Given the description of an element on the screen output the (x, y) to click on. 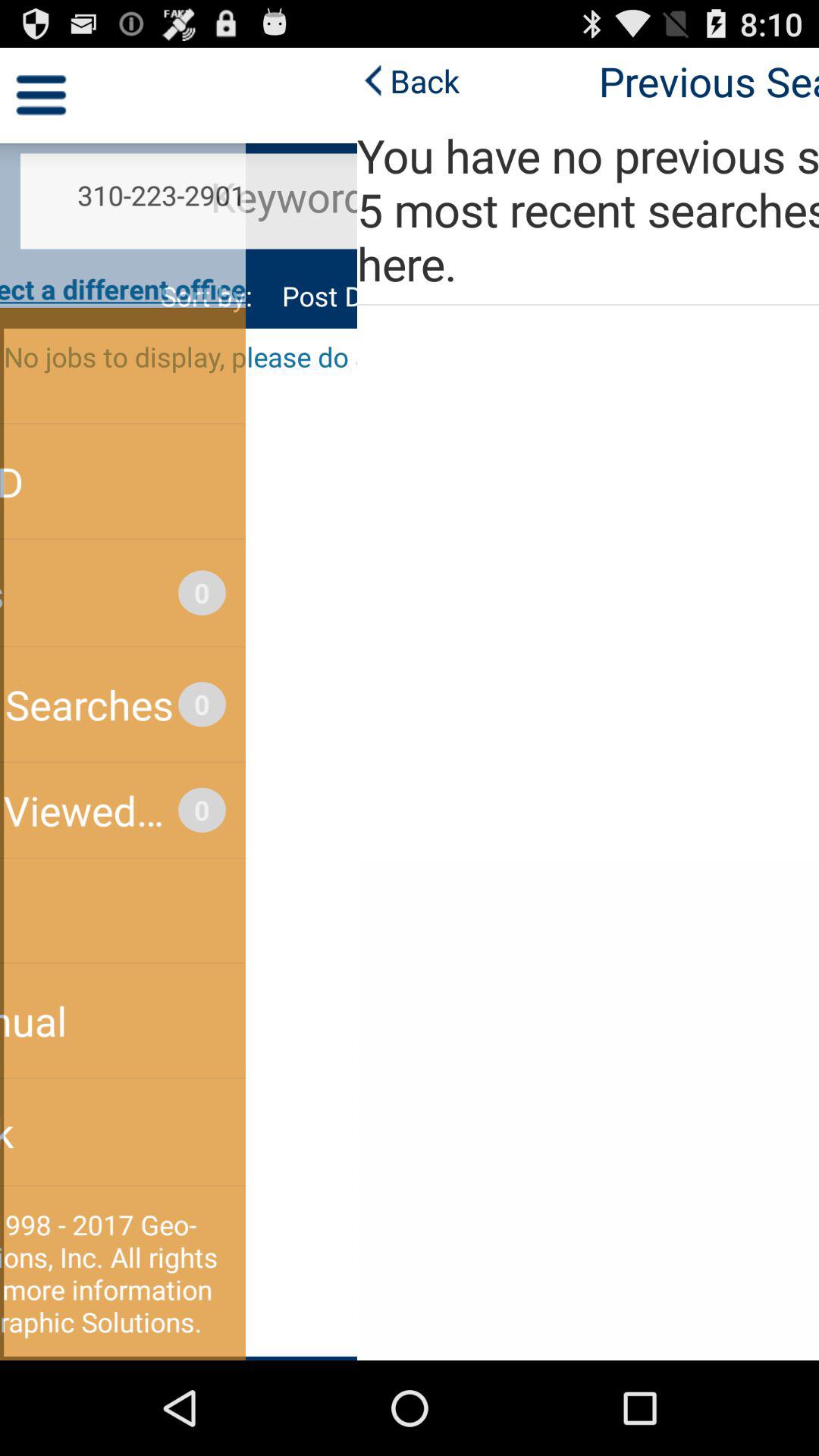
choose the icon below previous searches app (409, 209)
